Given the description of an element on the screen output the (x, y) to click on. 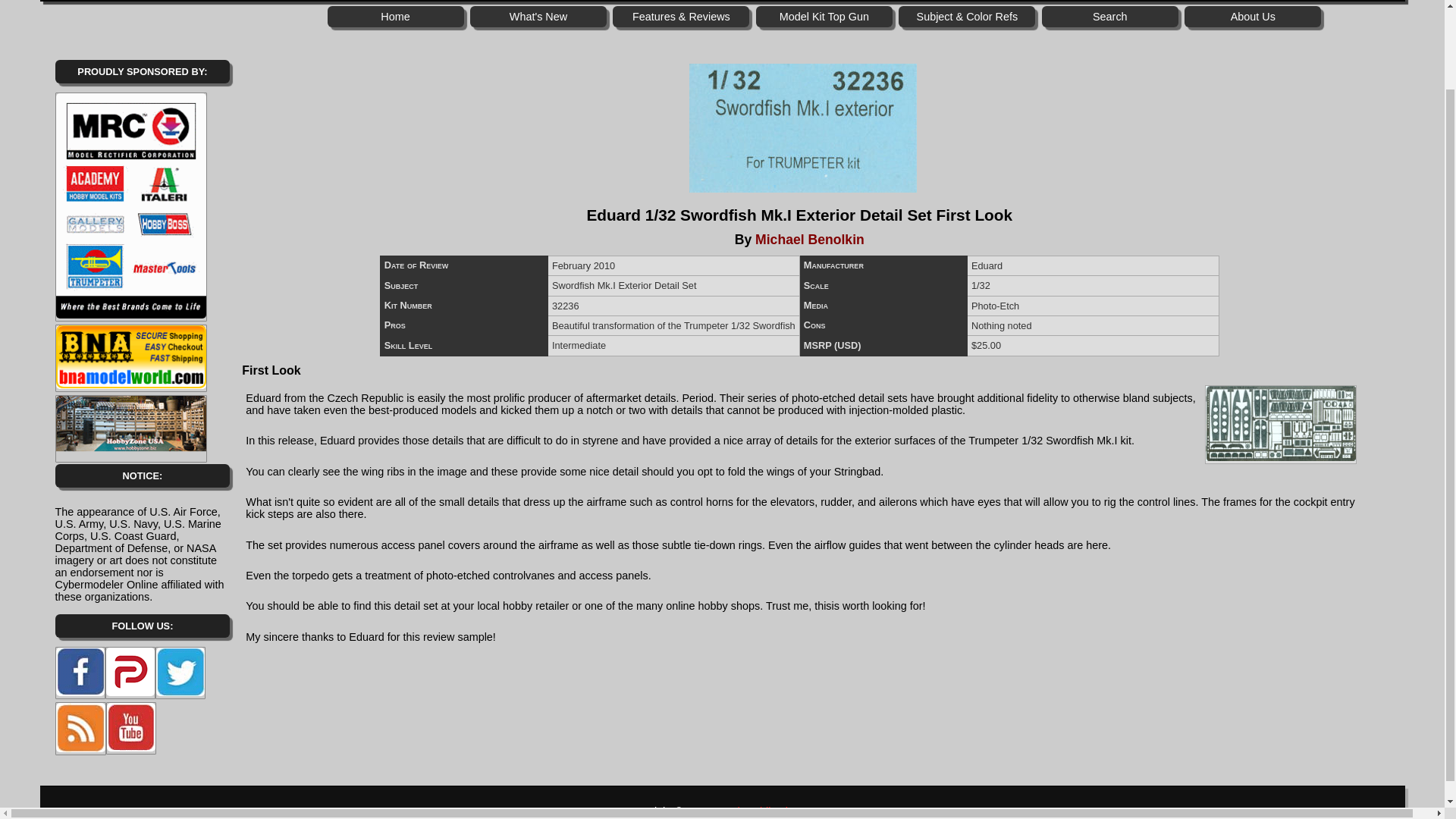
TacAir Publications, LLC. (773, 811)
What's New (538, 16)
Home (395, 16)
Model Kit Top Gun (823, 16)
Michael Benolkin (809, 239)
Search (1109, 16)
About Us (1252, 16)
